Given the description of an element on the screen output the (x, y) to click on. 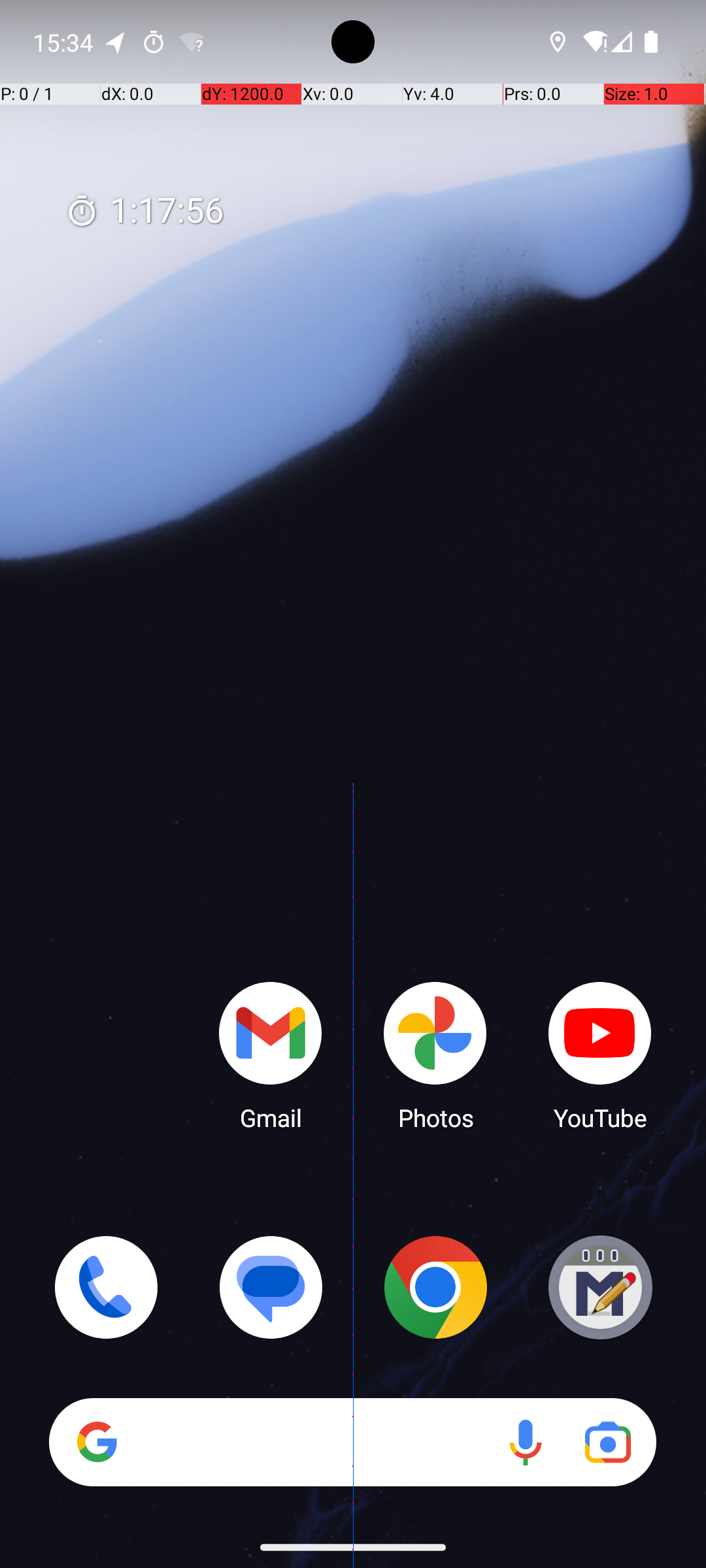
1:17:56 Element type: android.widget.TextView (144, 210)
